Given the description of an element on the screen output the (x, y) to click on. 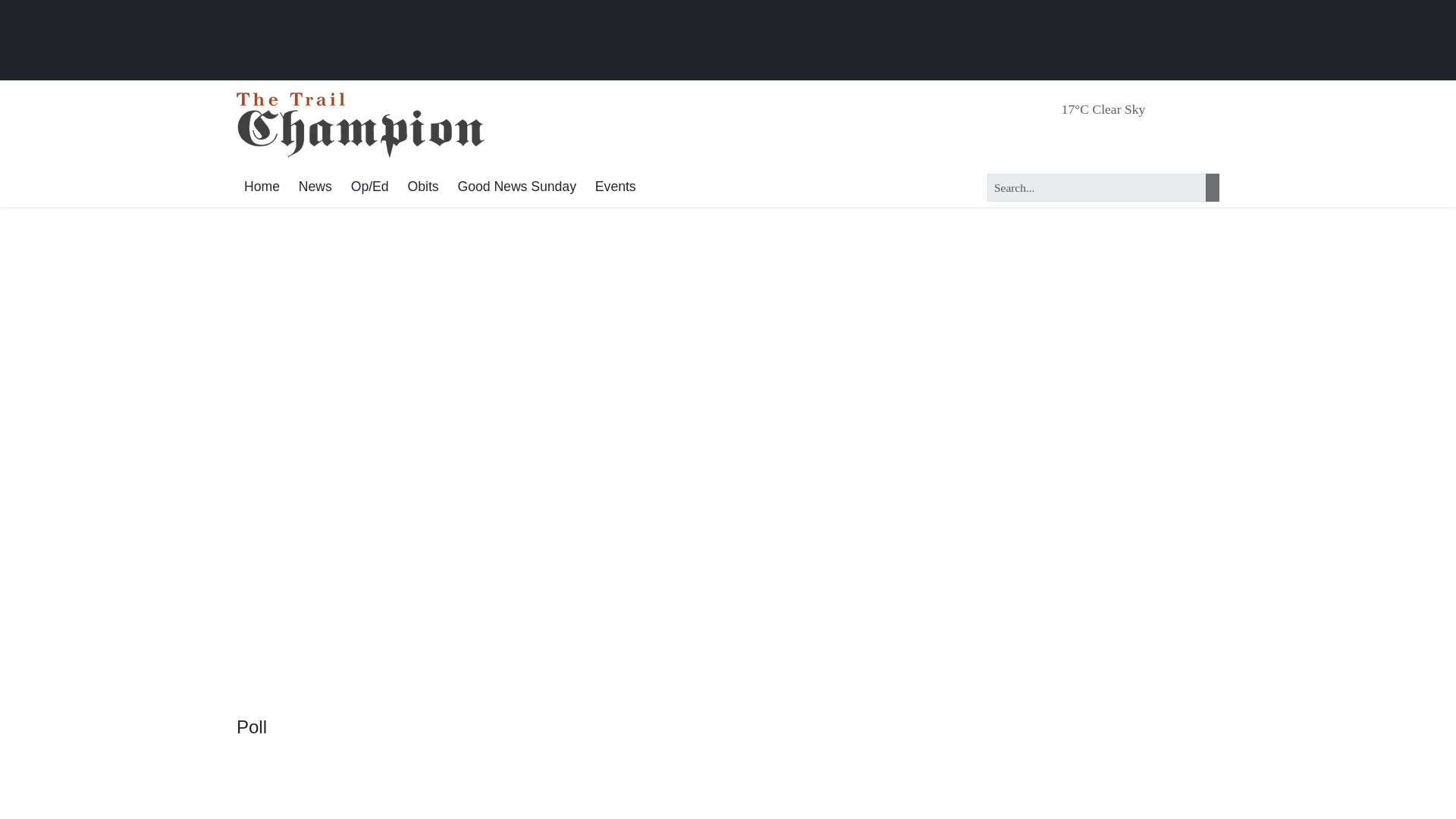
News (315, 187)
Good News Sunday (516, 187)
Obits (423, 187)
Events (615, 187)
Home (260, 187)
